Given the description of an element on the screen output the (x, y) to click on. 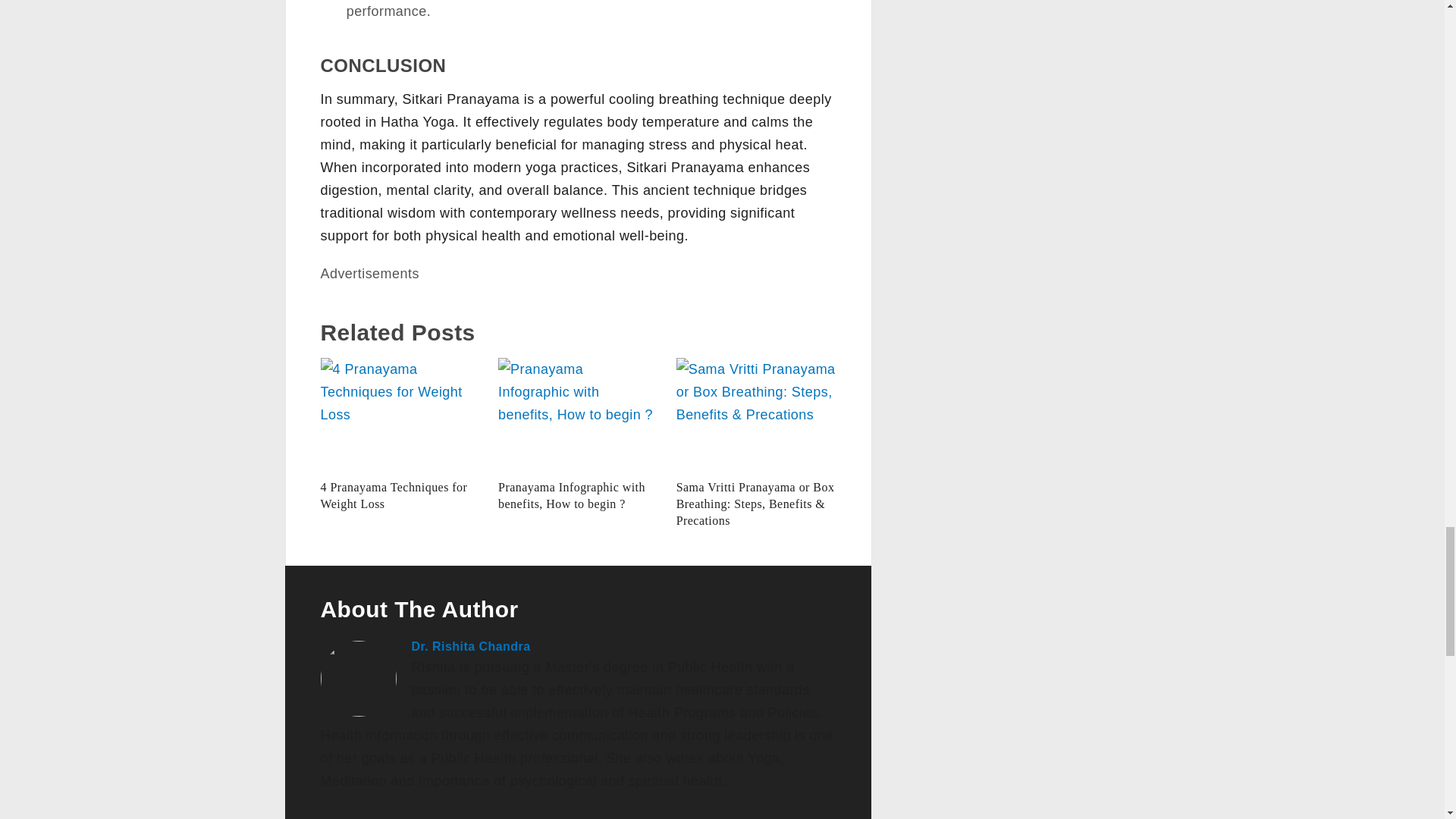
4 Pranayama Techniques for Weight Loss (400, 414)
Pranayama Infographic with benefits, How to begin ? (571, 495)
Pranayama Infographic with benefits, How to begin ? (577, 414)
4 Pranayama Techniques for Weight Loss (393, 495)
